Given the description of an element on the screen output the (x, y) to click on. 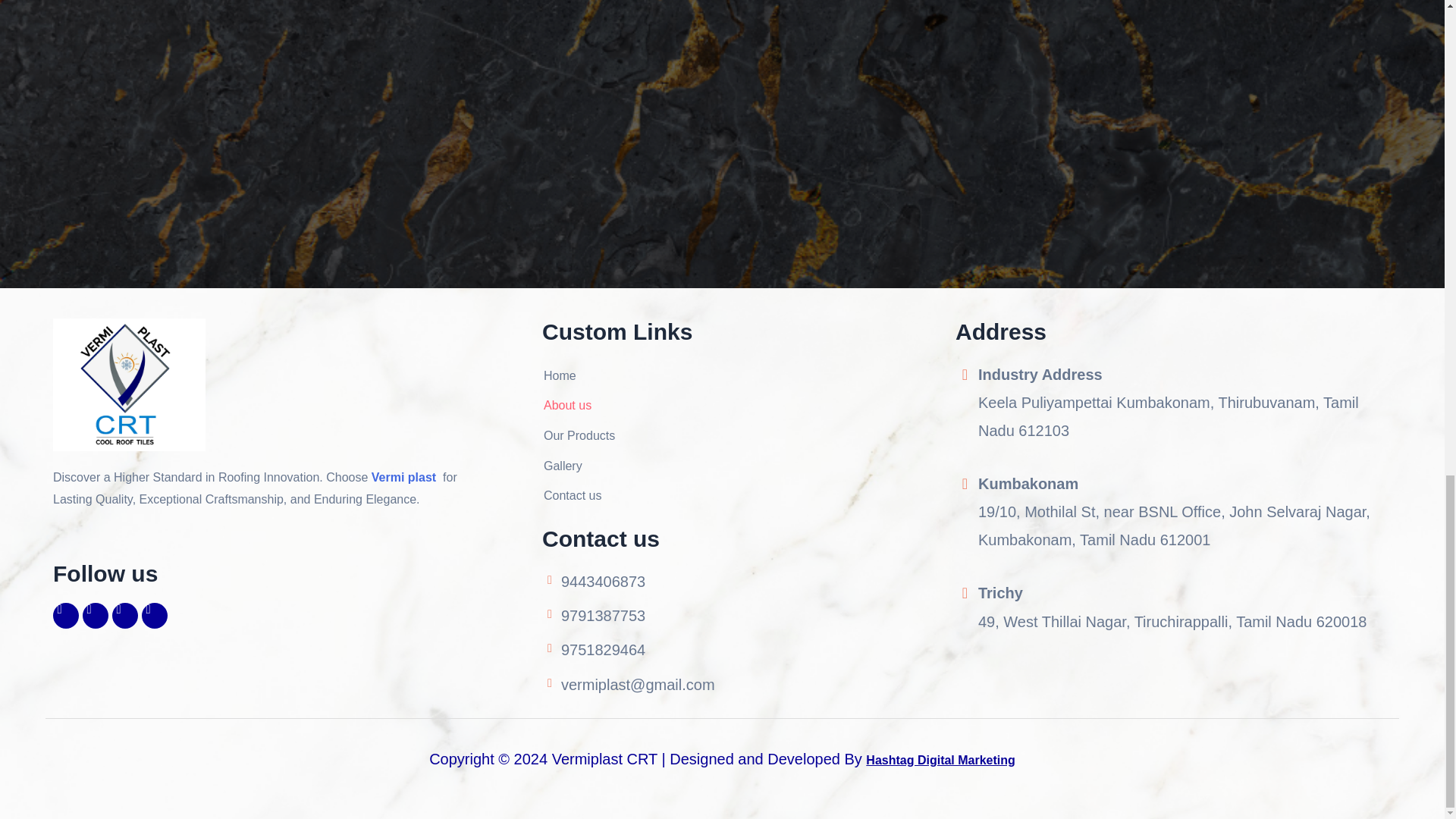
Gallery (577, 466)
About us (577, 404)
Our Products (577, 436)
Youtube (125, 615)
Whatsapp (154, 615)
Contact us (577, 495)
Hashtag Digital Marketing (940, 759)
9791387753 (740, 615)
About us (577, 404)
Home (577, 375)
Facebook (65, 615)
Instagram (94, 615)
Gallery (577, 466)
Vermi plast  (405, 477)
